Given the description of an element on the screen output the (x, y) to click on. 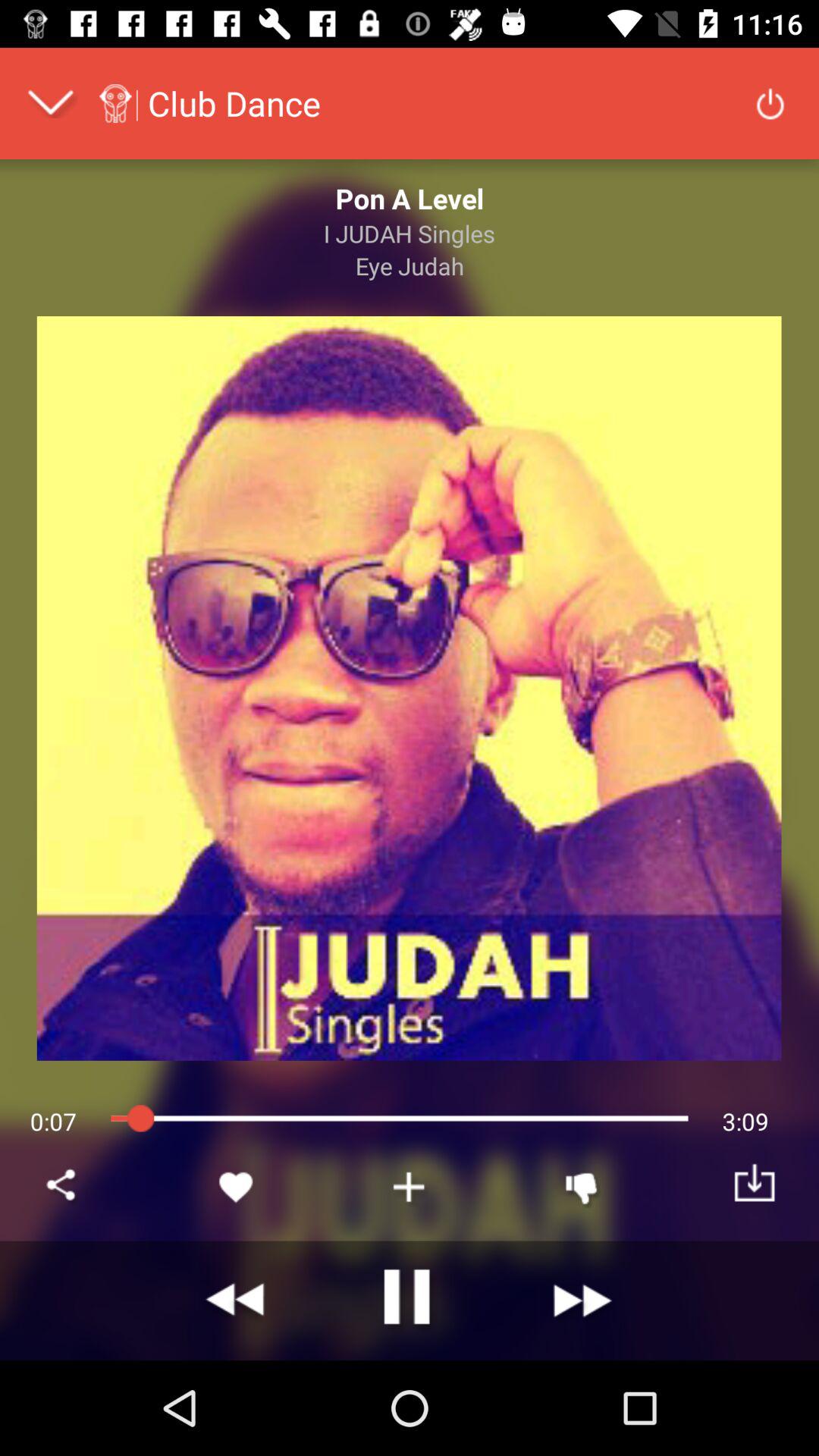
share the song (63, 1186)
